Given the description of an element on the screen output the (x, y) to click on. 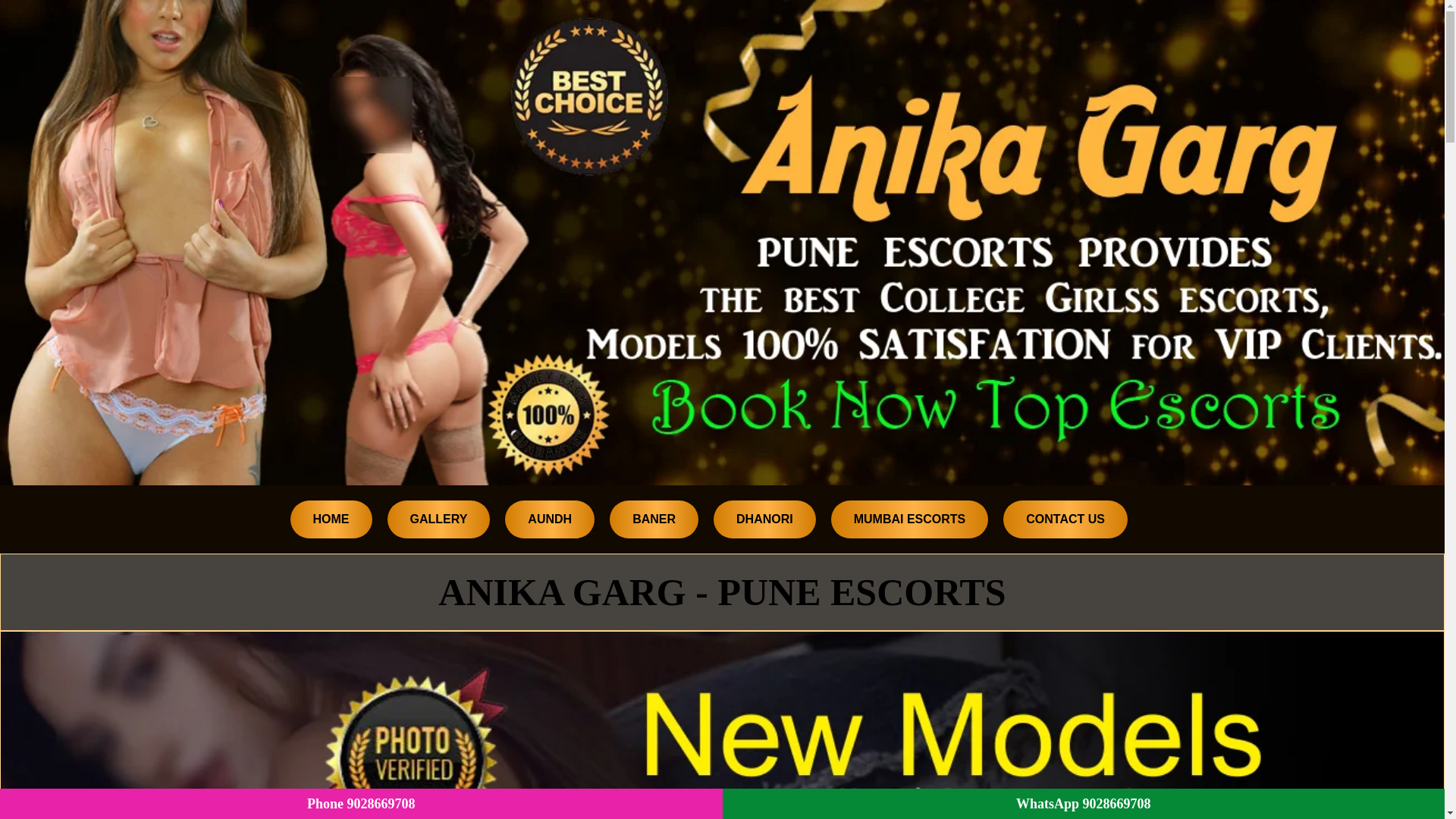
ANIKA GARG - PUNE ESCORTS (722, 591)
MUMBAI ESCORTS (909, 519)
DHANORI (764, 519)
CONTACT US (1064, 519)
AUNDH (549, 519)
BANER (654, 519)
HOME (330, 519)
GALLERY (438, 519)
